Given the description of an element on the screen output the (x, y) to click on. 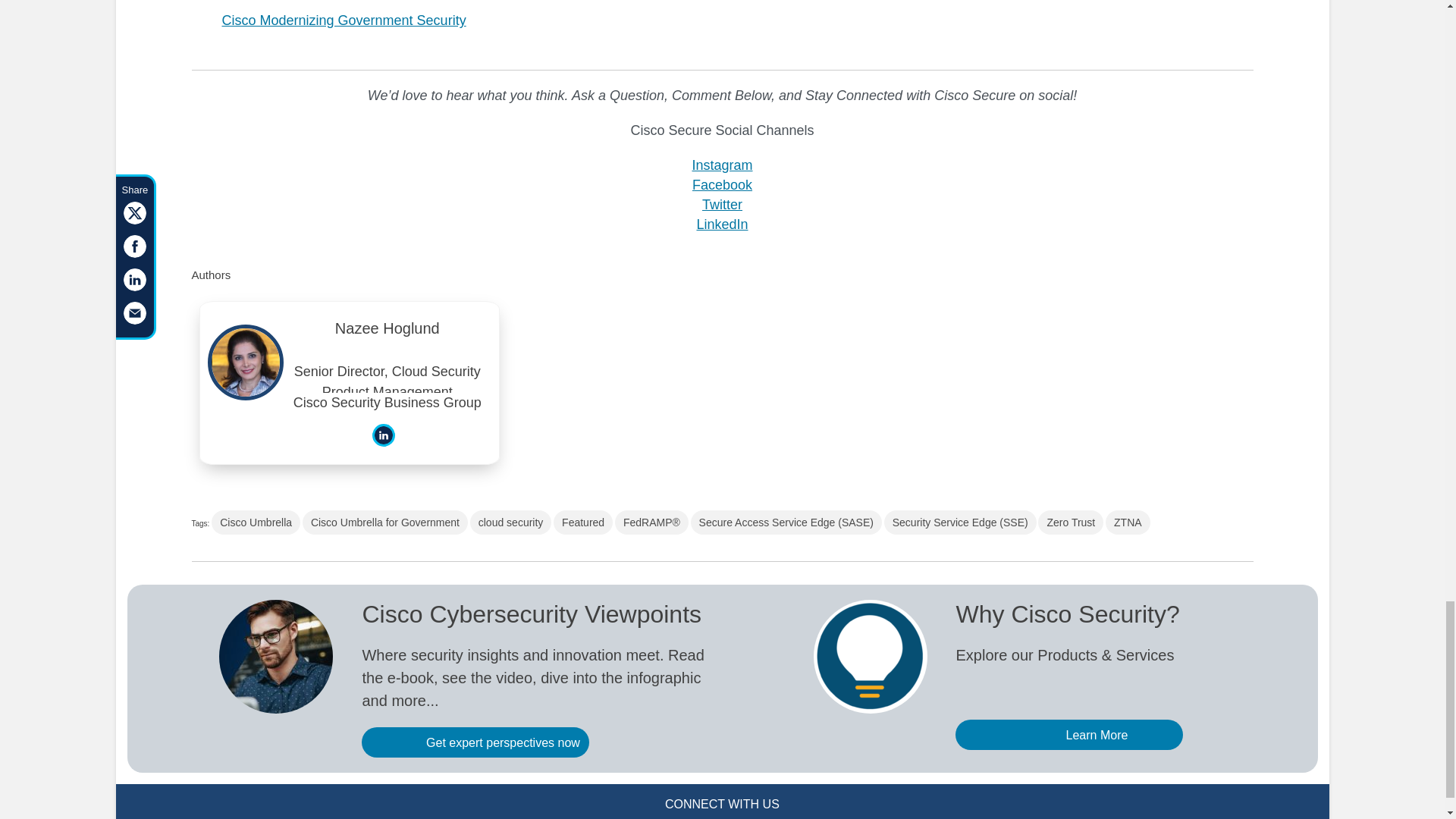
LinkedIn (721, 224)
Zero Trust (1070, 522)
Cisco Umbrella for Government (384, 522)
Instagram (721, 165)
Twitter (721, 204)
cloud security (510, 522)
Nazee Hoglund (387, 332)
Facebook (722, 184)
Featured (582, 522)
Cisco Umbrella (255, 522)
Cisco Modernizing Government Security (343, 20)
